Given the description of an element on the screen output the (x, y) to click on. 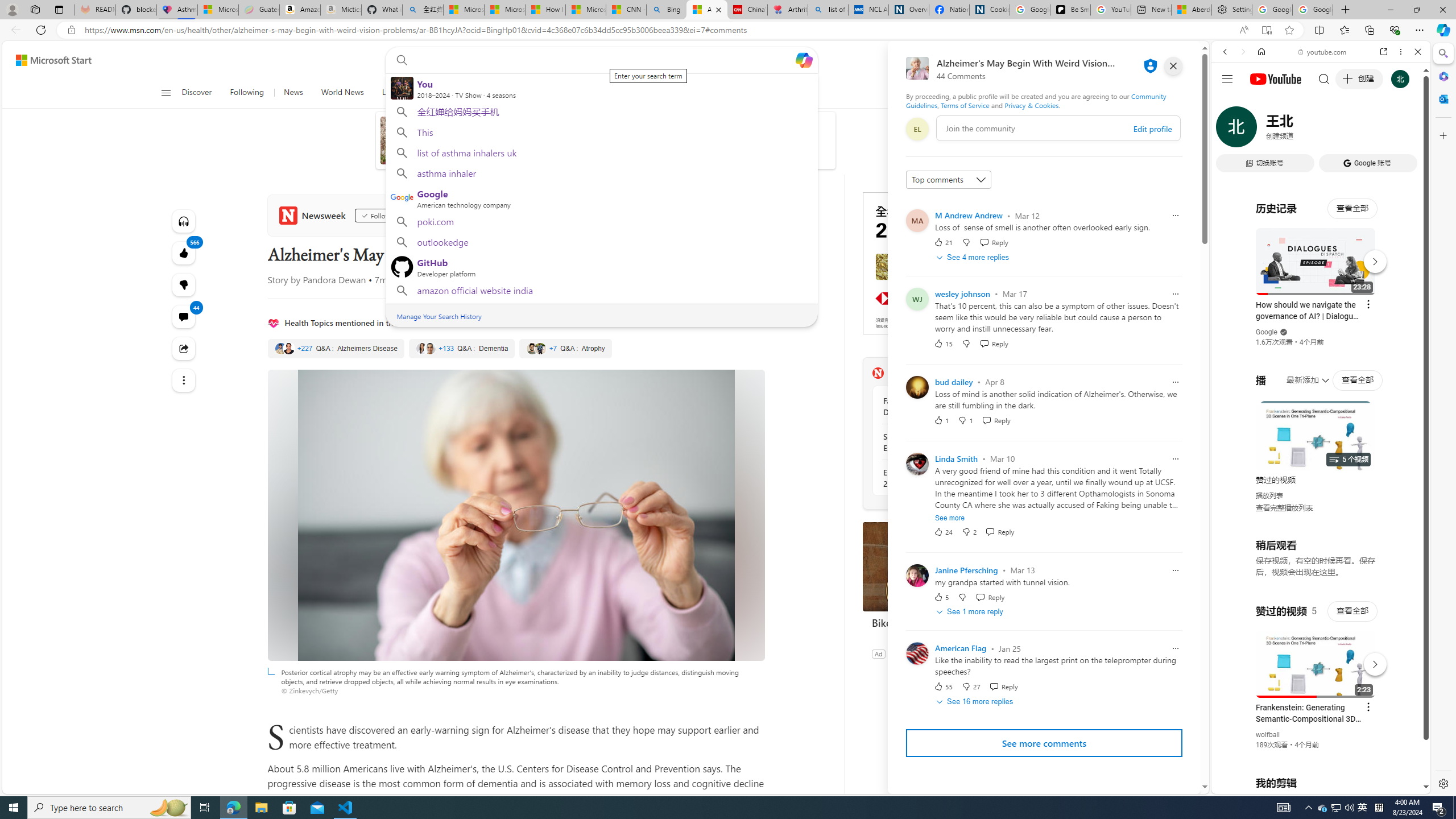
5 Like (940, 596)
World News (341, 92)
Sort comments by (948, 179)
outlookedge (601, 241)
This (601, 132)
Preferences (1403, 129)
Manage Your Search History (438, 316)
Food & Drink (738, 92)
